Given the description of an element on the screen output the (x, y) to click on. 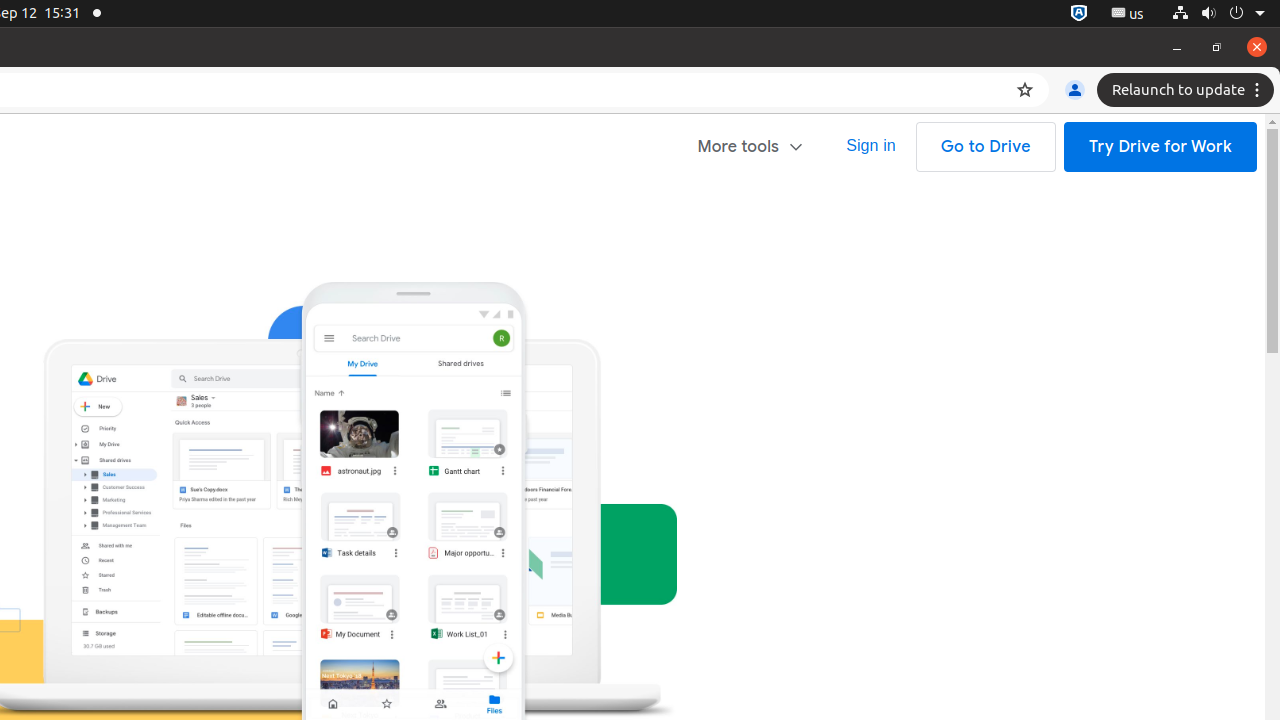
More tools Element type: link (751, 146)
Bookmark this tab Element type: push-button (1025, 90)
System Element type: menu (1218, 13)
Go to Drive Element type: link (986, 147)
Relaunch to update Element type: push-button (1188, 90)
